Given the description of an element on the screen output the (x, y) to click on. 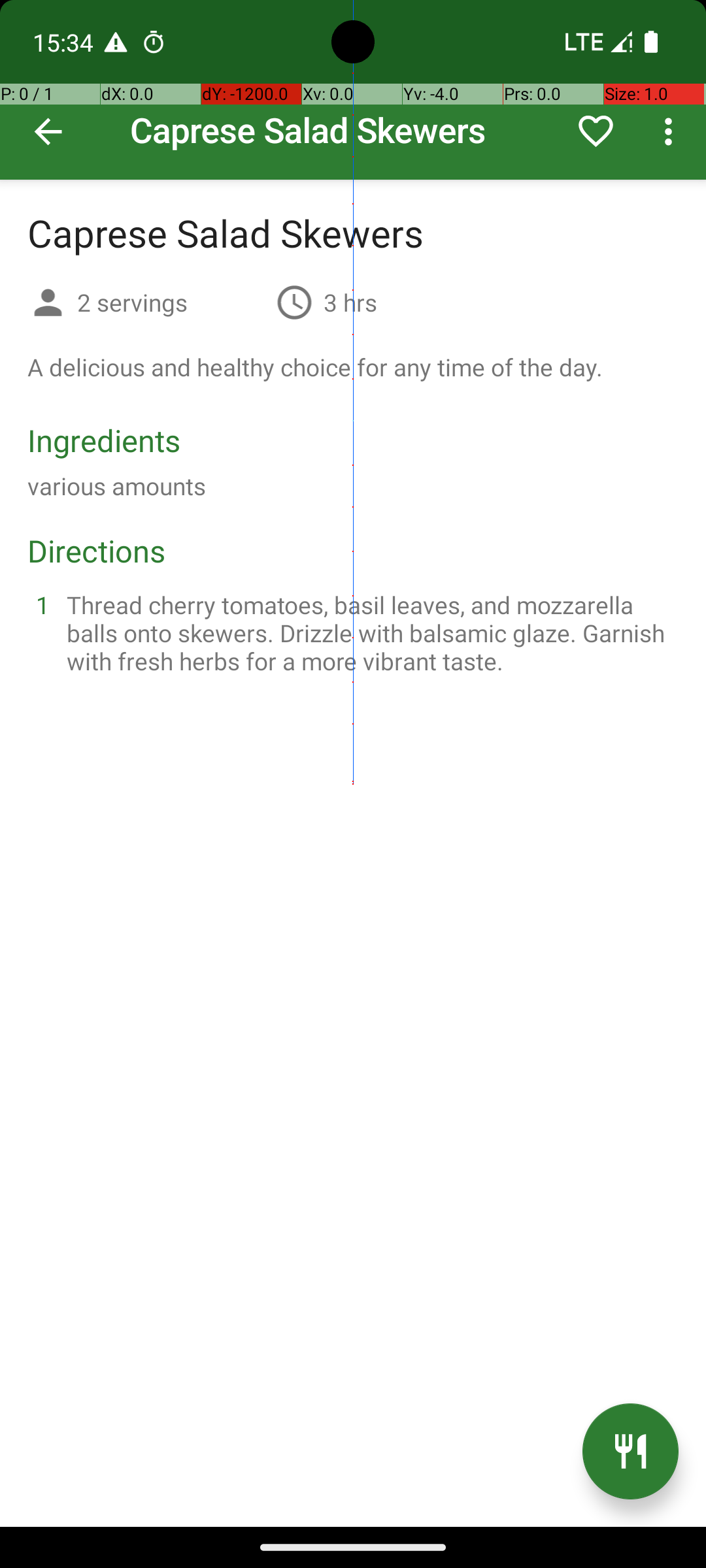
2 servings Element type: android.widget.TextView (170, 301)
3 hrs Element type: android.widget.TextView (350, 301)
various amounts Element type: android.widget.TextView (116, 485)
Thread cherry tomatoes, basil leaves, and mozzarella balls onto skewers. Drizzle with balsamic glaze. Garnish with fresh herbs for a more vibrant taste. Element type: android.widget.TextView (368, 632)
